Given the description of an element on the screen output the (x, y) to click on. 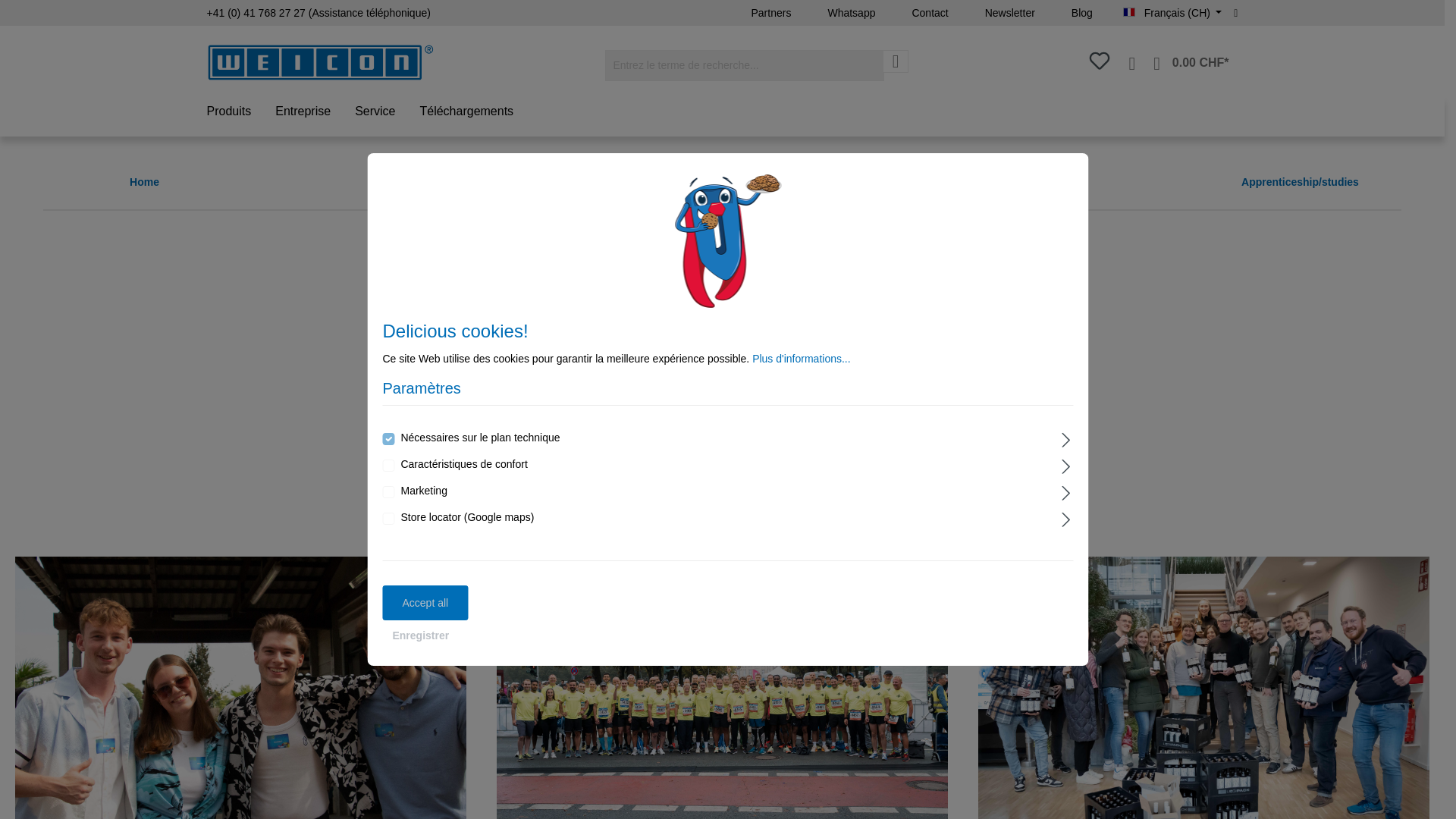
Newsletter (1009, 12)
on (387, 465)
Partners (770, 12)
on (387, 491)
Whatsapp (851, 12)
Mes Notes (1099, 64)
Contact (929, 12)
Blog (1081, 12)
Blog (1081, 12)
Newsletter (1009, 12)
Produits (240, 113)
Service (387, 113)
Whatsapp (851, 12)
on (387, 518)
Entreprise (315, 113)
